Given the description of an element on the screen output the (x, y) to click on. 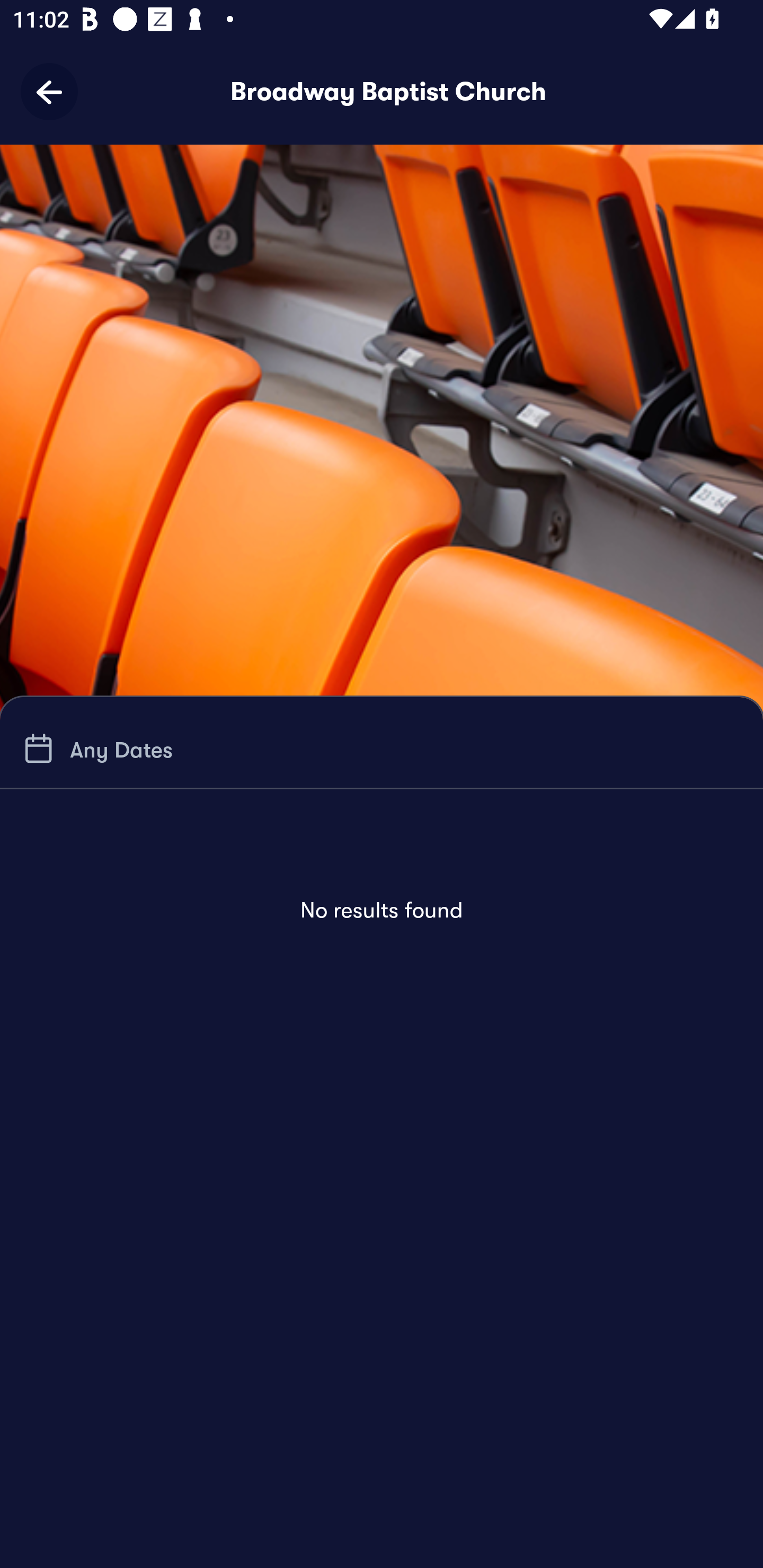
Any Dates (95, 749)
